Given the description of an element on the screen output the (x, y) to click on. 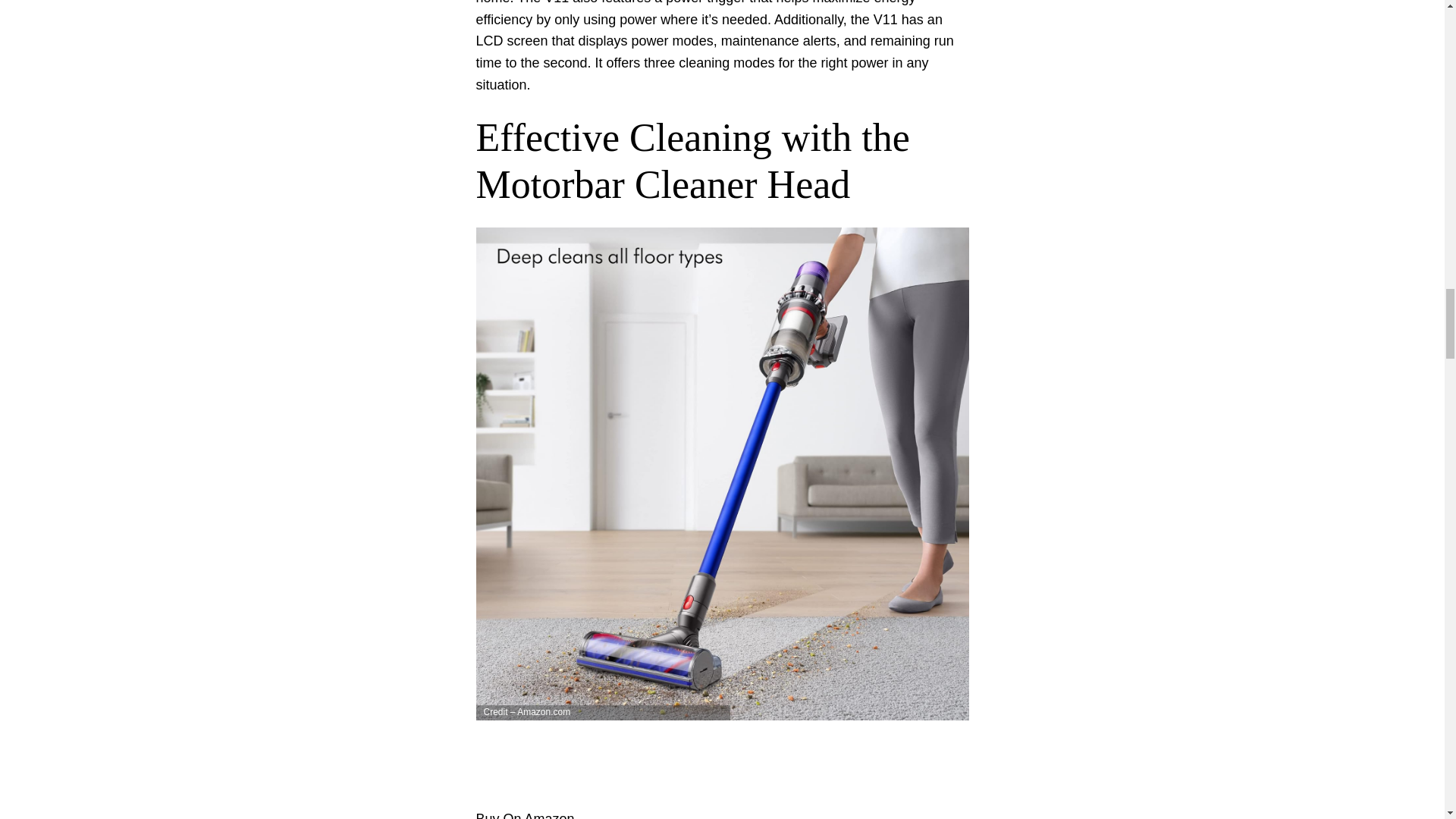
Buy On Amazon (525, 815)
